Given the description of an element on the screen output the (x, y) to click on. 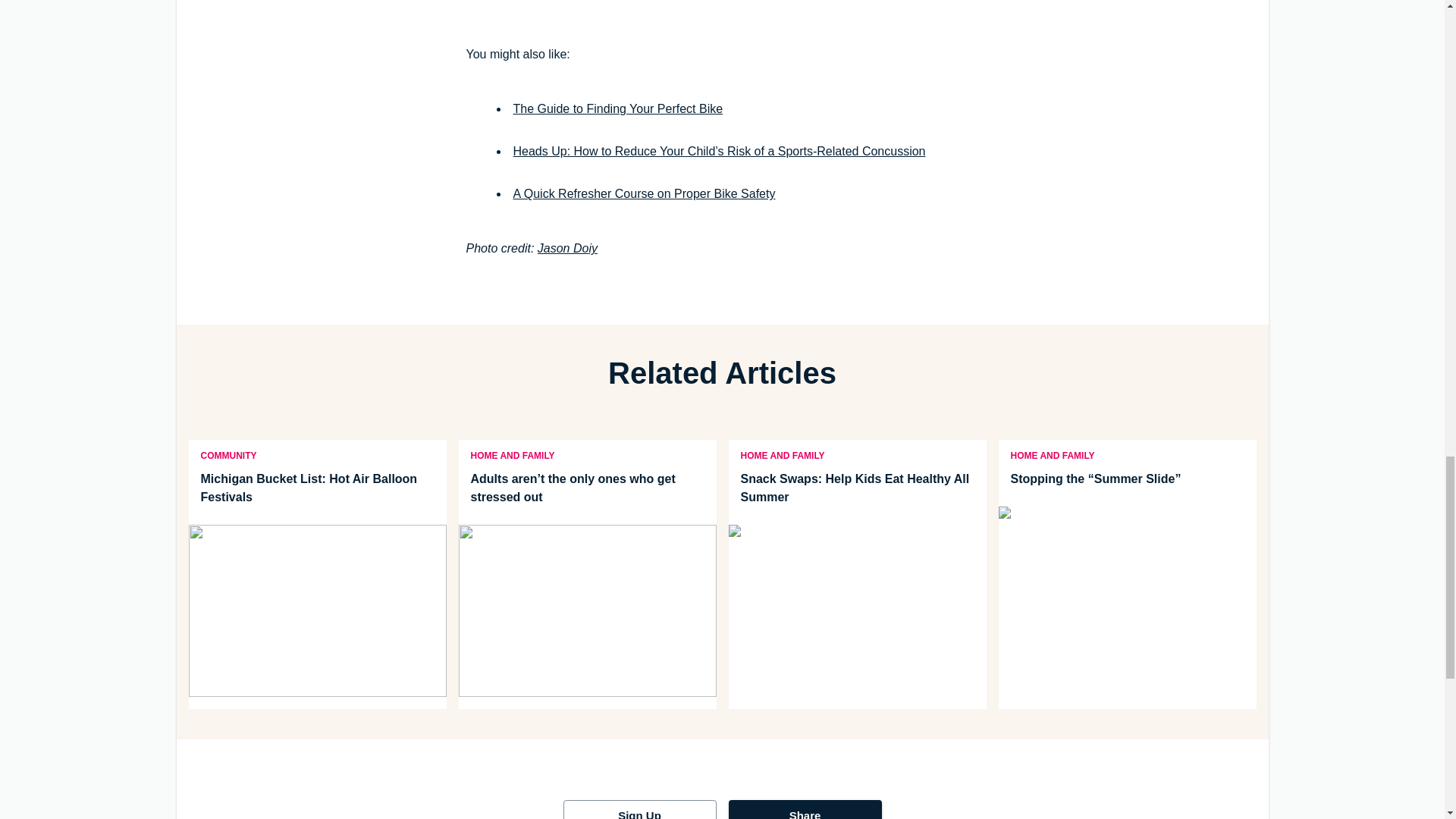
Michigan Bucket List: Hot Air Balloon Festivals (316, 488)
Snack Swaps: Help Kids Eat Healthy All Summer (856, 488)
HOME AND FAMILY (781, 454)
COMMUNITY (227, 454)
The Guide to Finding Your Perfect Bike (617, 108)
HOME AND FAMILY (512, 454)
A Quick Refresher Course on Proper Bike Safety (643, 193)
Jason Doiy (566, 247)
